Given the description of an element on the screen output the (x, y) to click on. 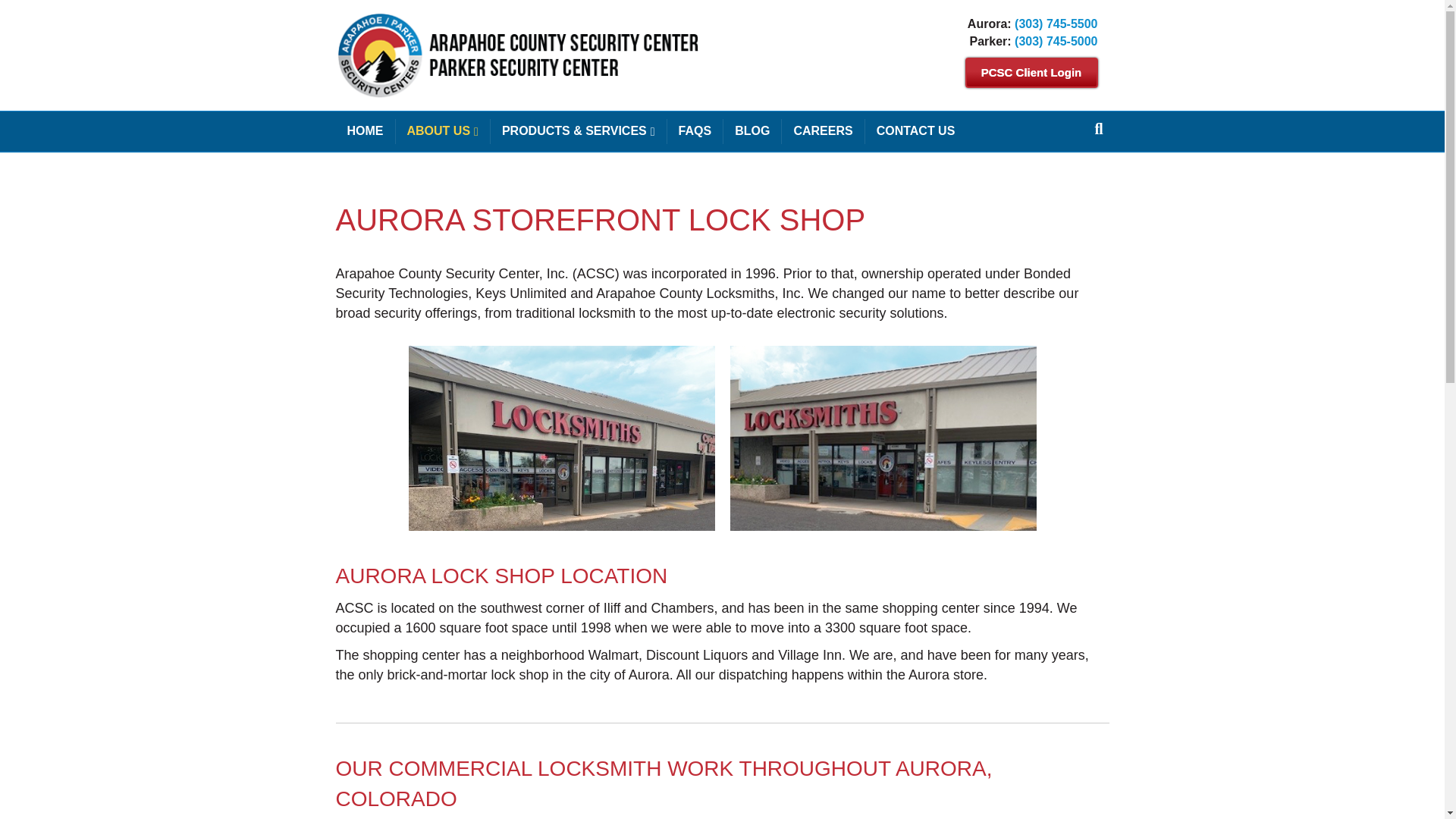
PCSC Client Login (1030, 72)
FAQS (694, 130)
PCSC Client Login (1030, 72)
HOME (364, 130)
CAREERS (822, 130)
CONTACT US (915, 130)
ABOUT US (443, 131)
Arapahoe County Security Center Lock Shop (560, 437)
Arapahoe County Security Center Lock Shop-2 (882, 437)
BLOG (752, 130)
